Given the description of an element on the screen output the (x, y) to click on. 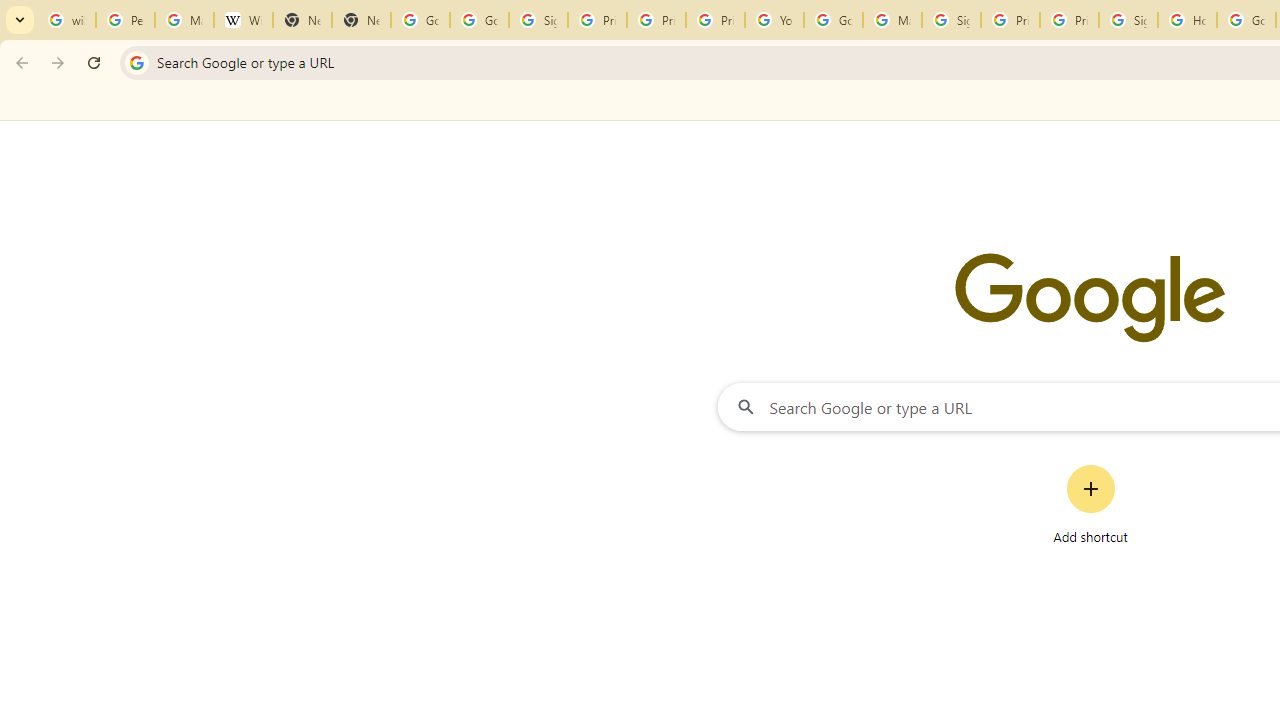
Wikipedia:Edit requests - Wikipedia (242, 20)
YouTube (774, 20)
Sign in - Google Accounts (950, 20)
New Tab (360, 20)
Sign in - Google Accounts (1128, 20)
New Tab (301, 20)
Sign in - Google Accounts (538, 20)
Personalization & Google Search results - Google Search Help (125, 20)
